Given the description of an element on the screen output the (x, y) to click on. 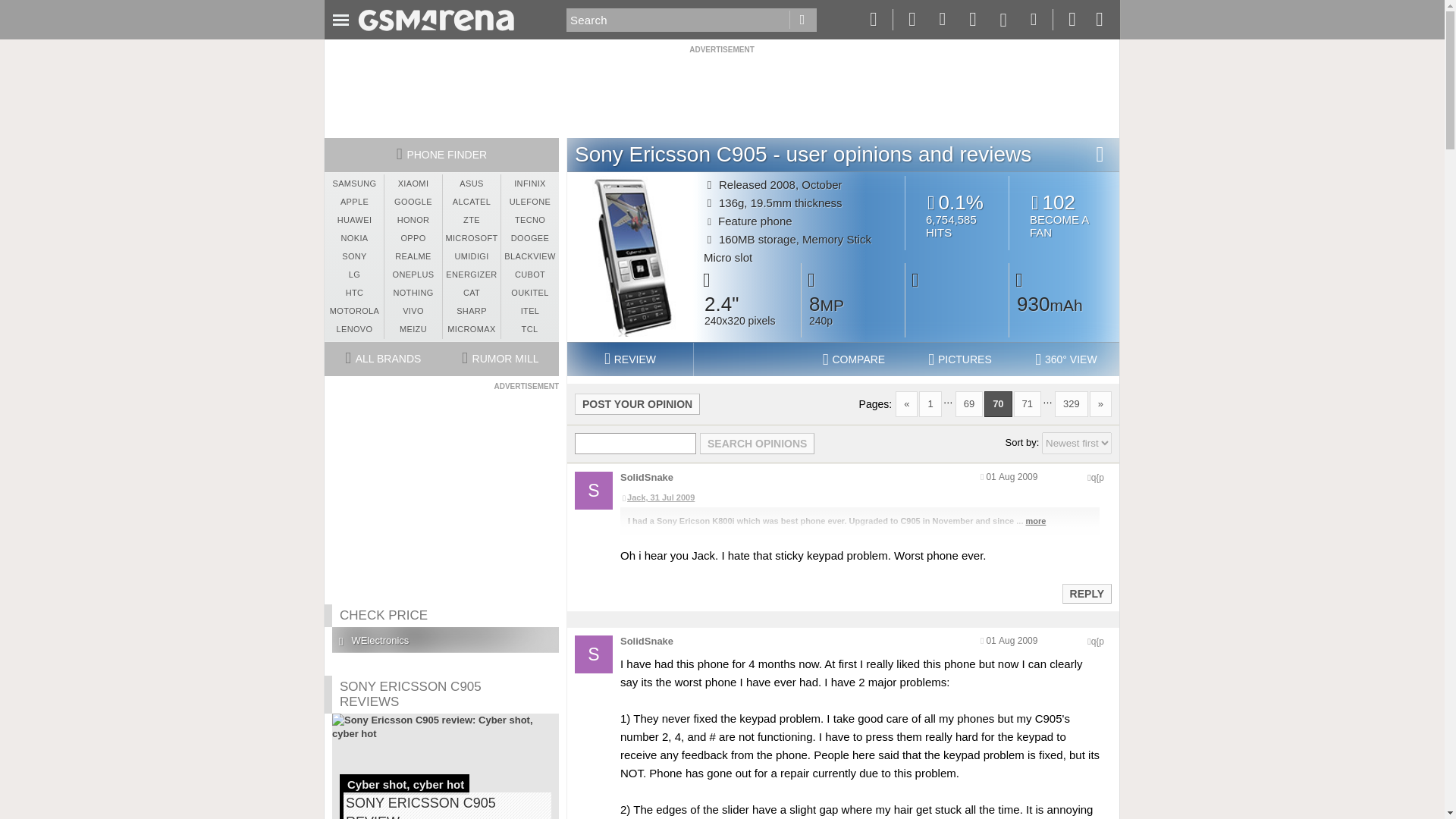
COMPARE (853, 359)
Encoded anonymized location (1096, 477)
Reply to this post (1086, 593)
Sort comments by (1077, 443)
POST YOUR OPINION (637, 403)
Search opinions (756, 443)
Encoded anonymized location (1096, 641)
PICTURES (960, 359)
Go (802, 19)
